Given the description of an element on the screen output the (x, y) to click on. 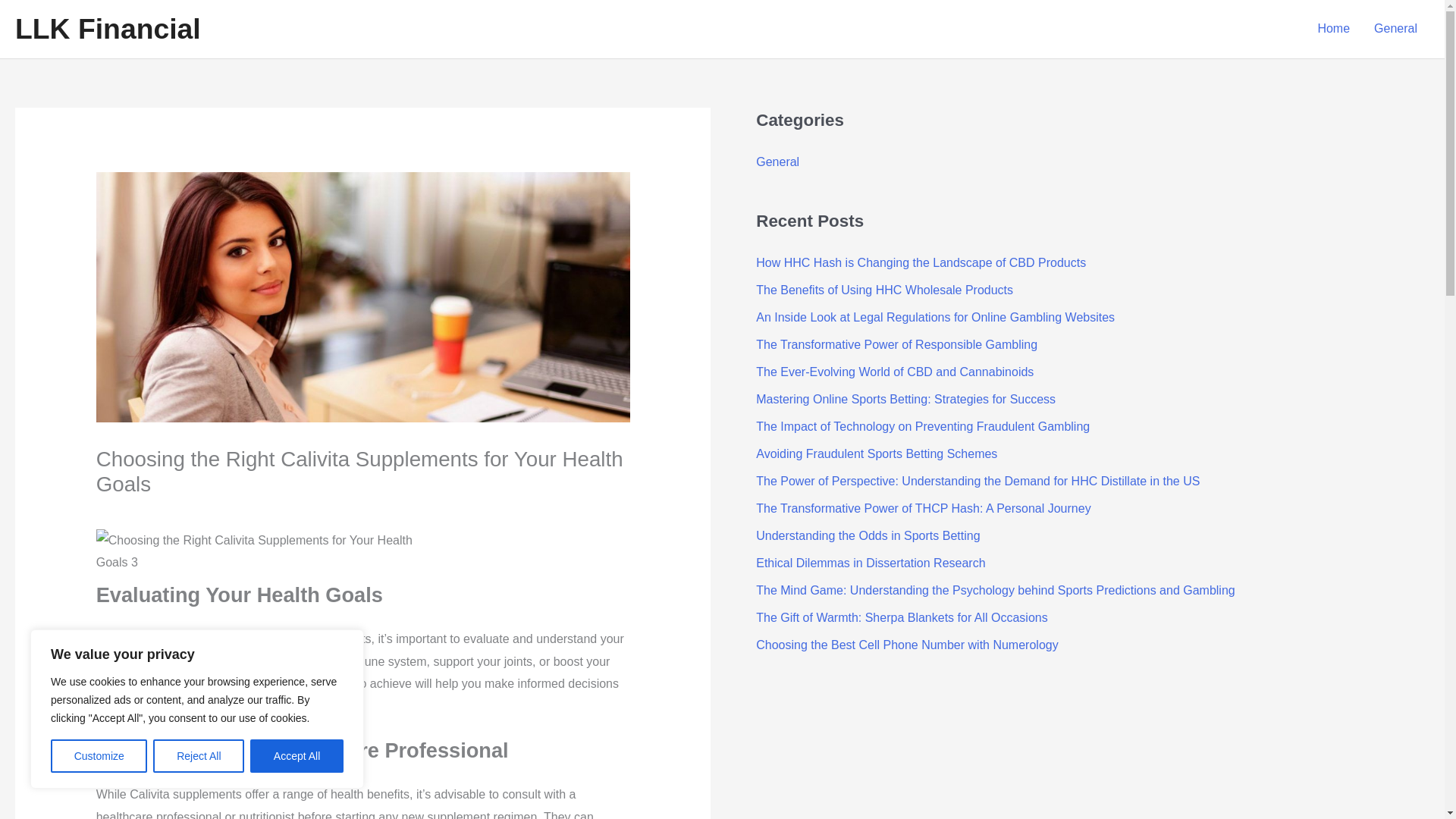
Accept All (296, 756)
How HHC Hash is Changing the Landscape of CBD Products (920, 262)
General (1395, 28)
LLK Financial (107, 29)
Reject All (198, 756)
Home (1332, 28)
Customize (98, 756)
The Benefits of Using HHC Wholesale Products (884, 289)
General (777, 161)
improve (289, 661)
